Given the description of an element on the screen output the (x, y) to click on. 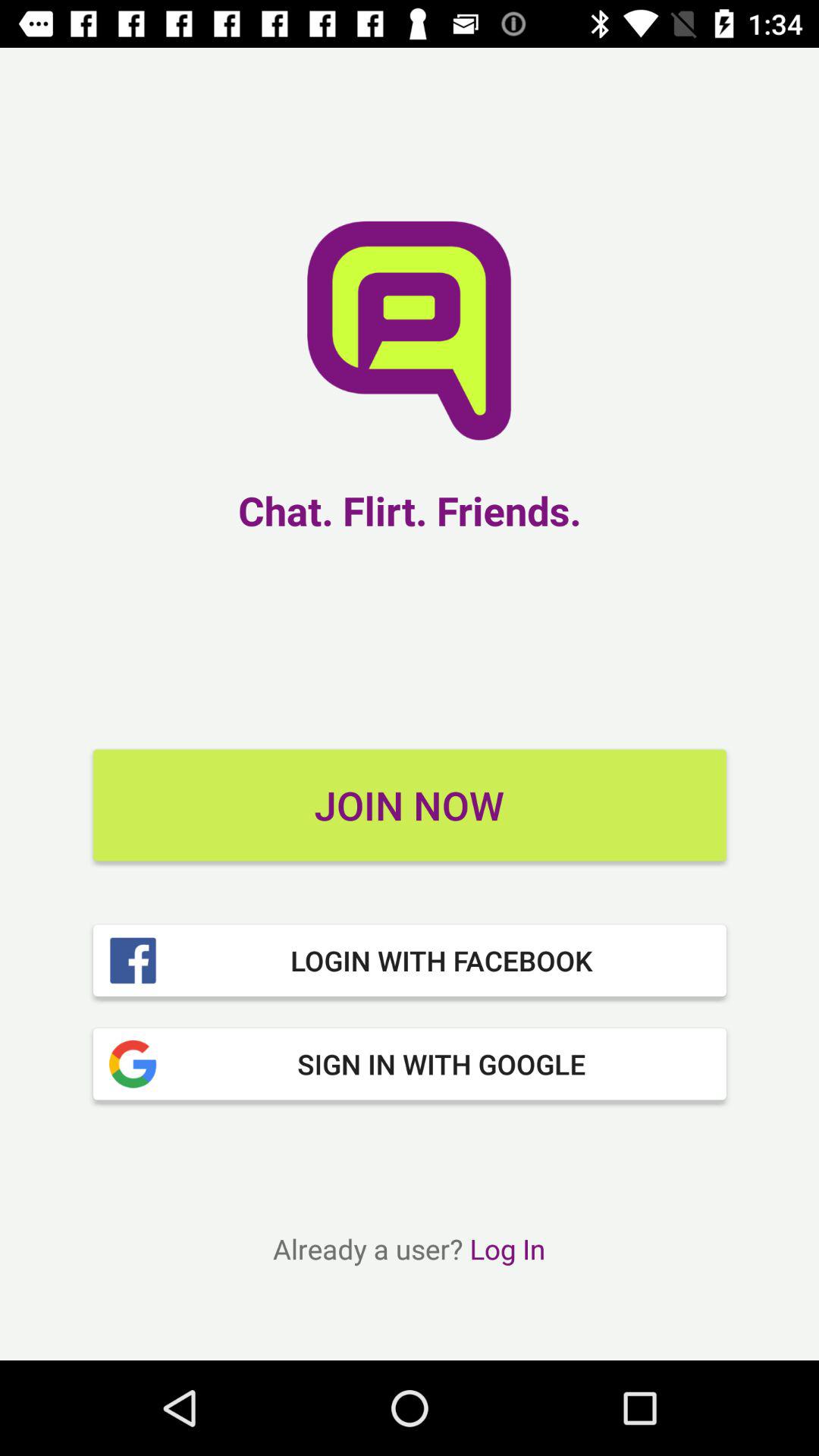
turn off item below login with facebook item (409, 1063)
